Given the description of an element on the screen output the (x, y) to click on. 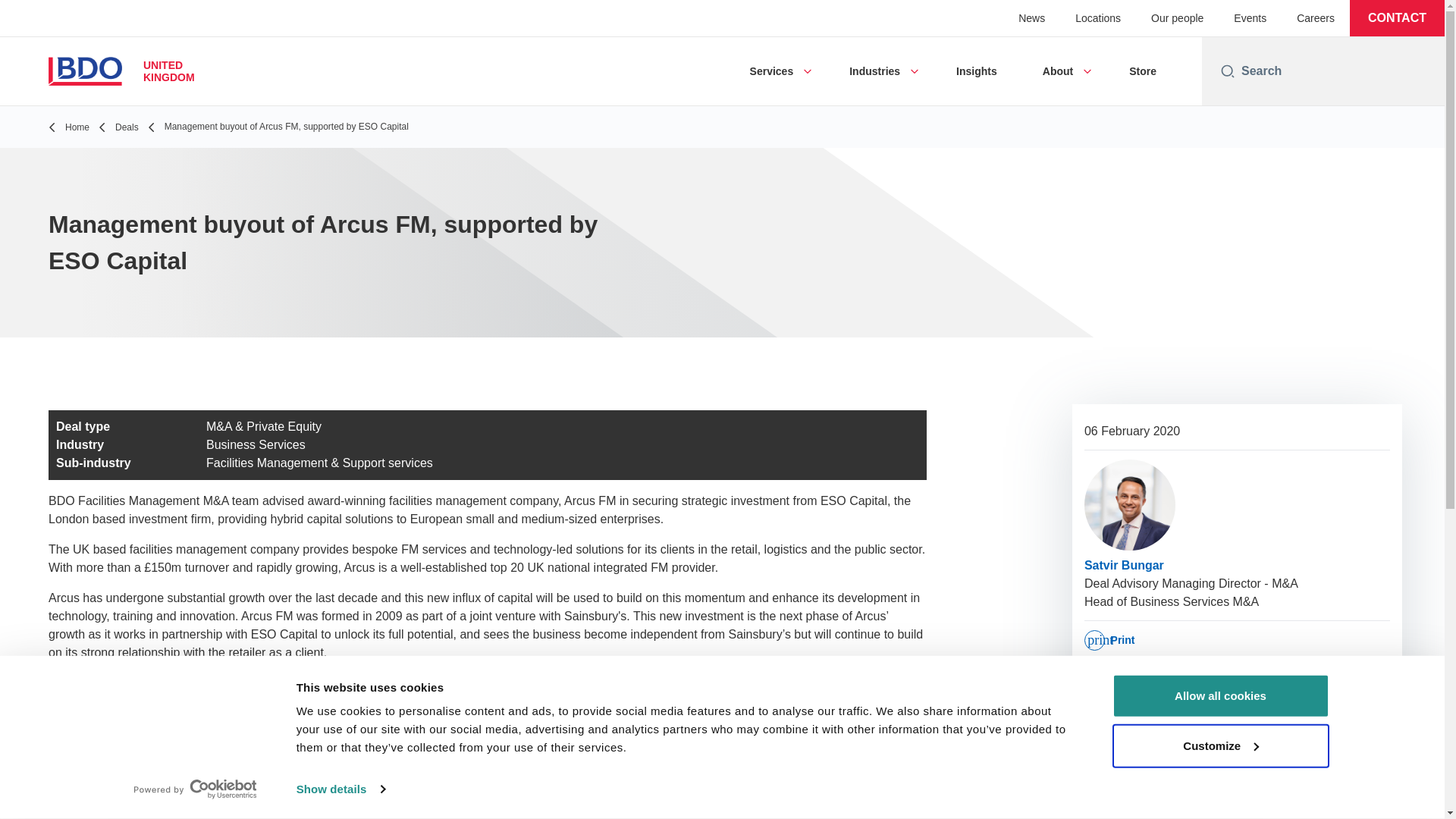
Show details (340, 789)
